Given the description of an element on the screen output the (x, y) to click on. 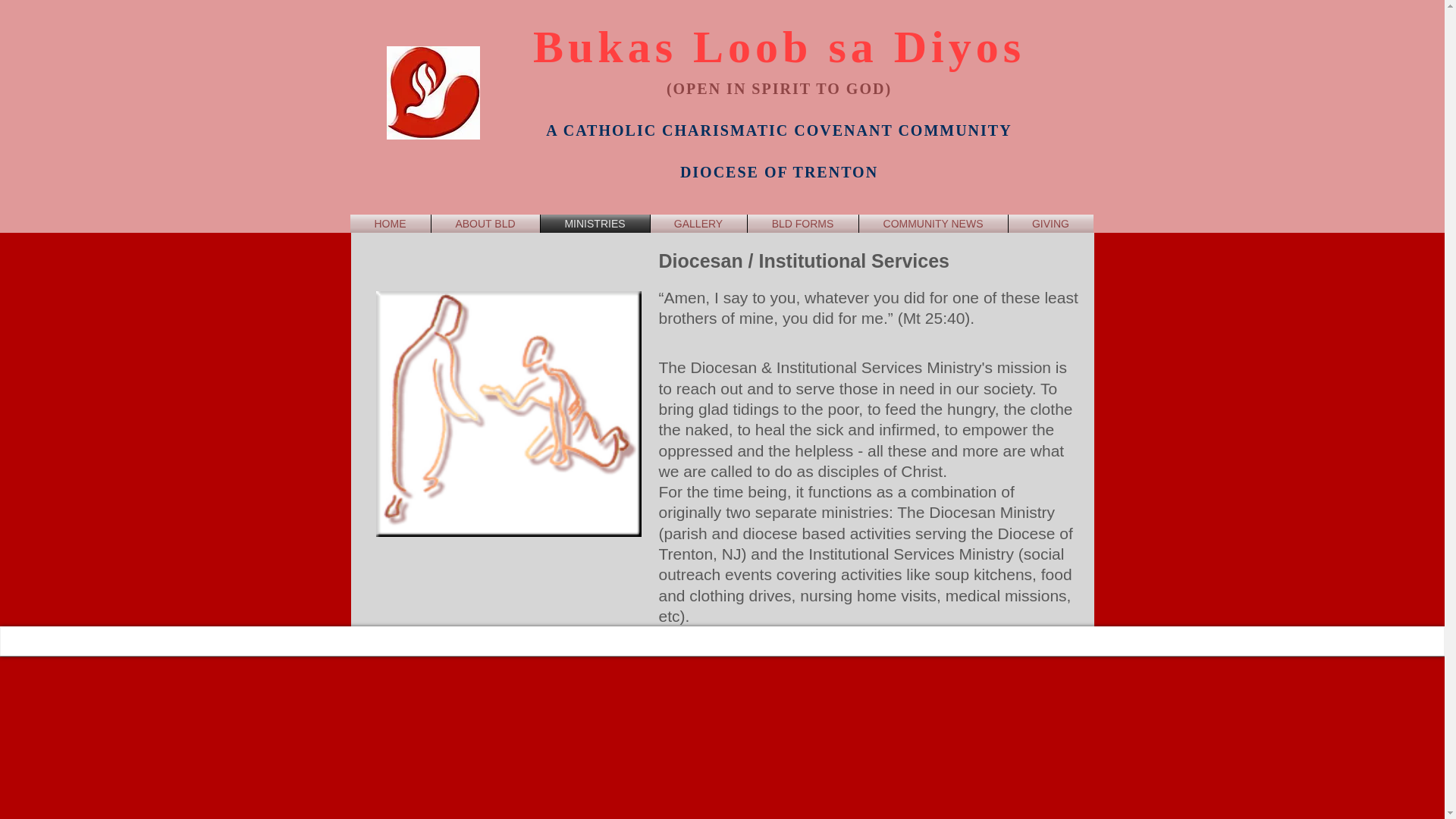
BLD FORMS (803, 223)
GIVING (1051, 223)
MINISTRIES (594, 223)
ABOUT BLD (484, 223)
COMMUNITY NEWS (933, 223)
HOME (390, 223)
GALLERY (698, 223)
